Given the description of an element on the screen output the (x, y) to click on. 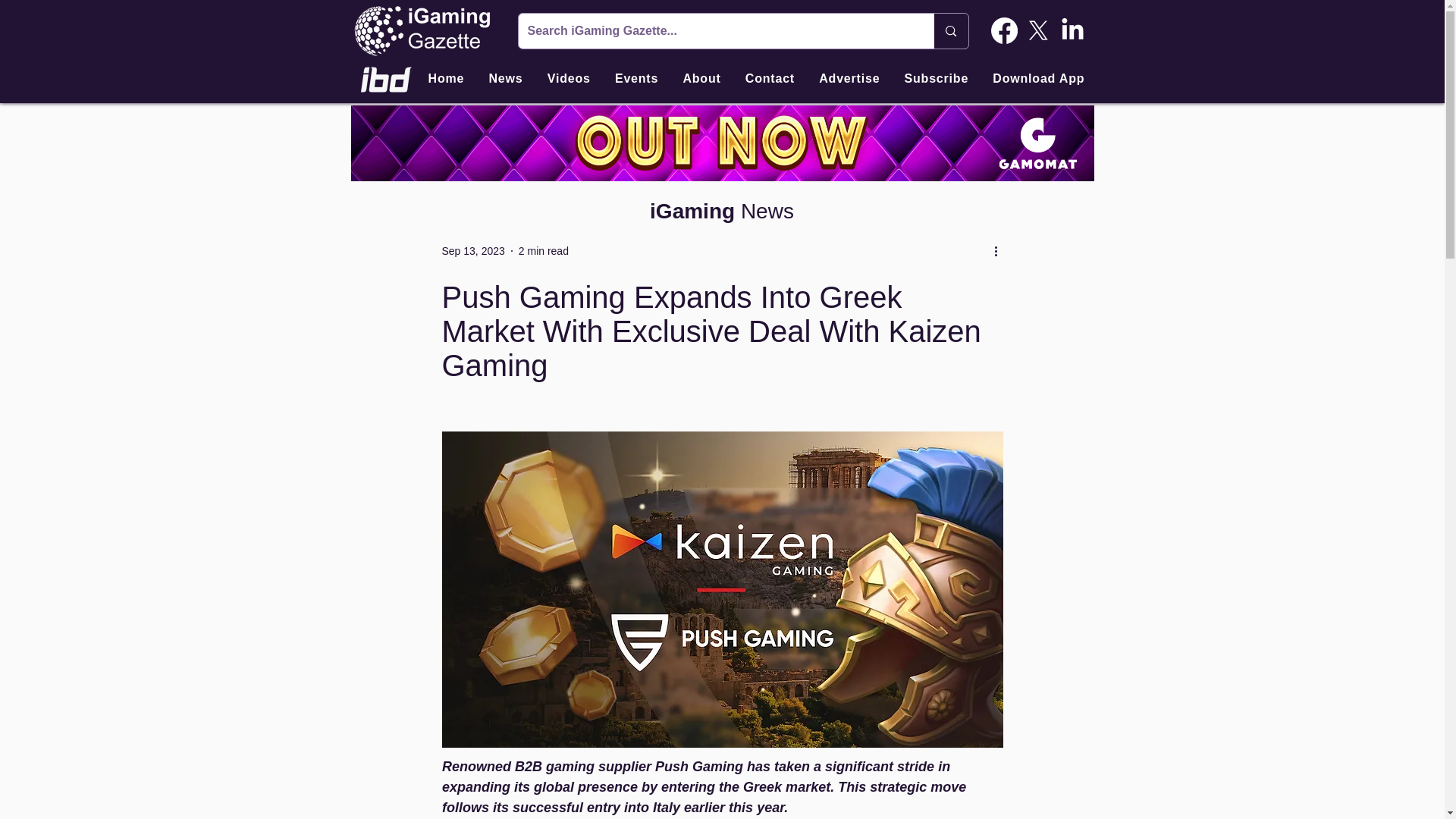
Sep 13, 2023 (472, 250)
News (505, 78)
2 min read (543, 250)
Home (446, 78)
Videos (568, 78)
